Given the description of an element on the screen output the (x, y) to click on. 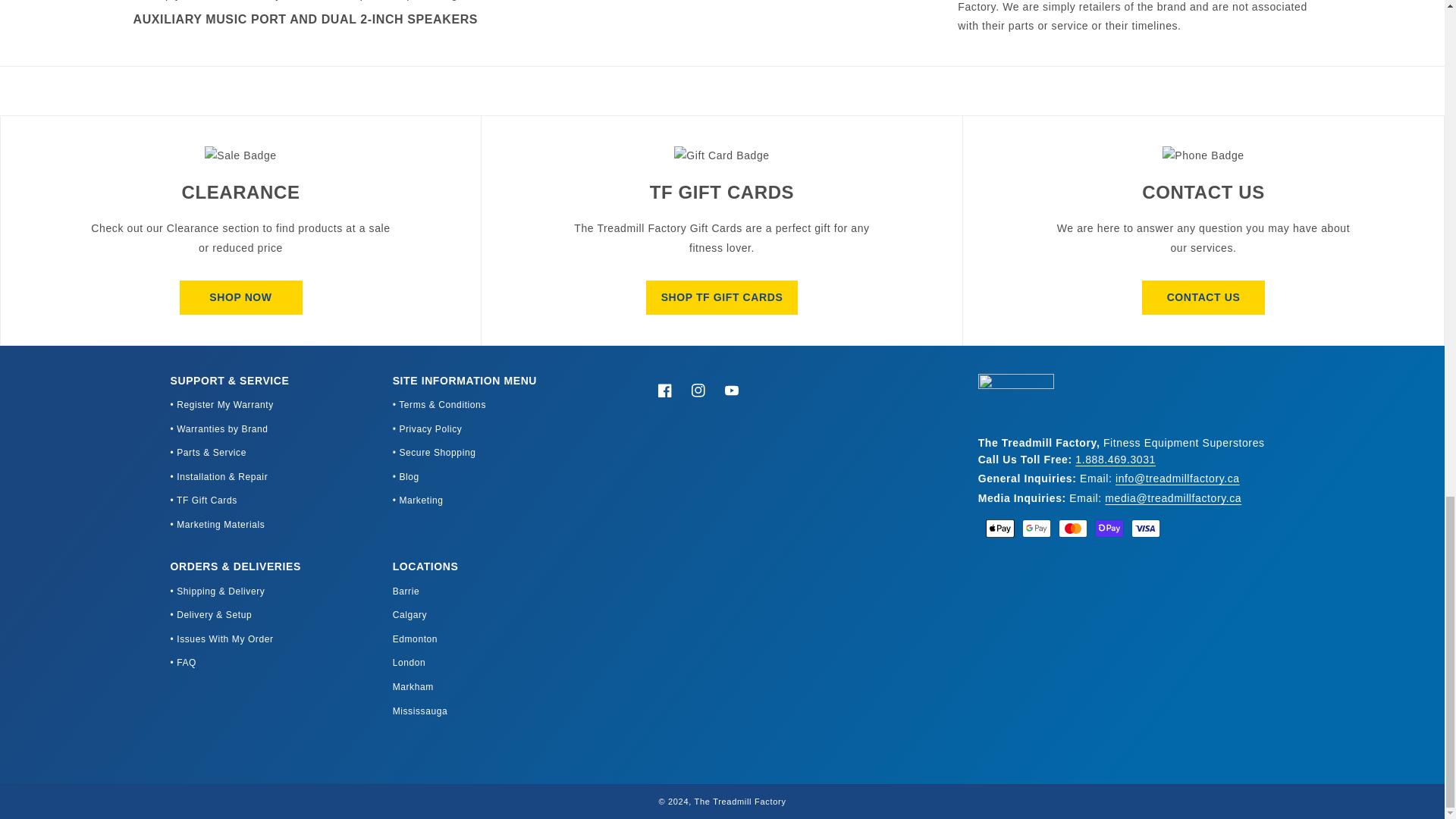
tel:18884693031 (1115, 459)
